Given the description of an element on the screen output the (x, y) to click on. 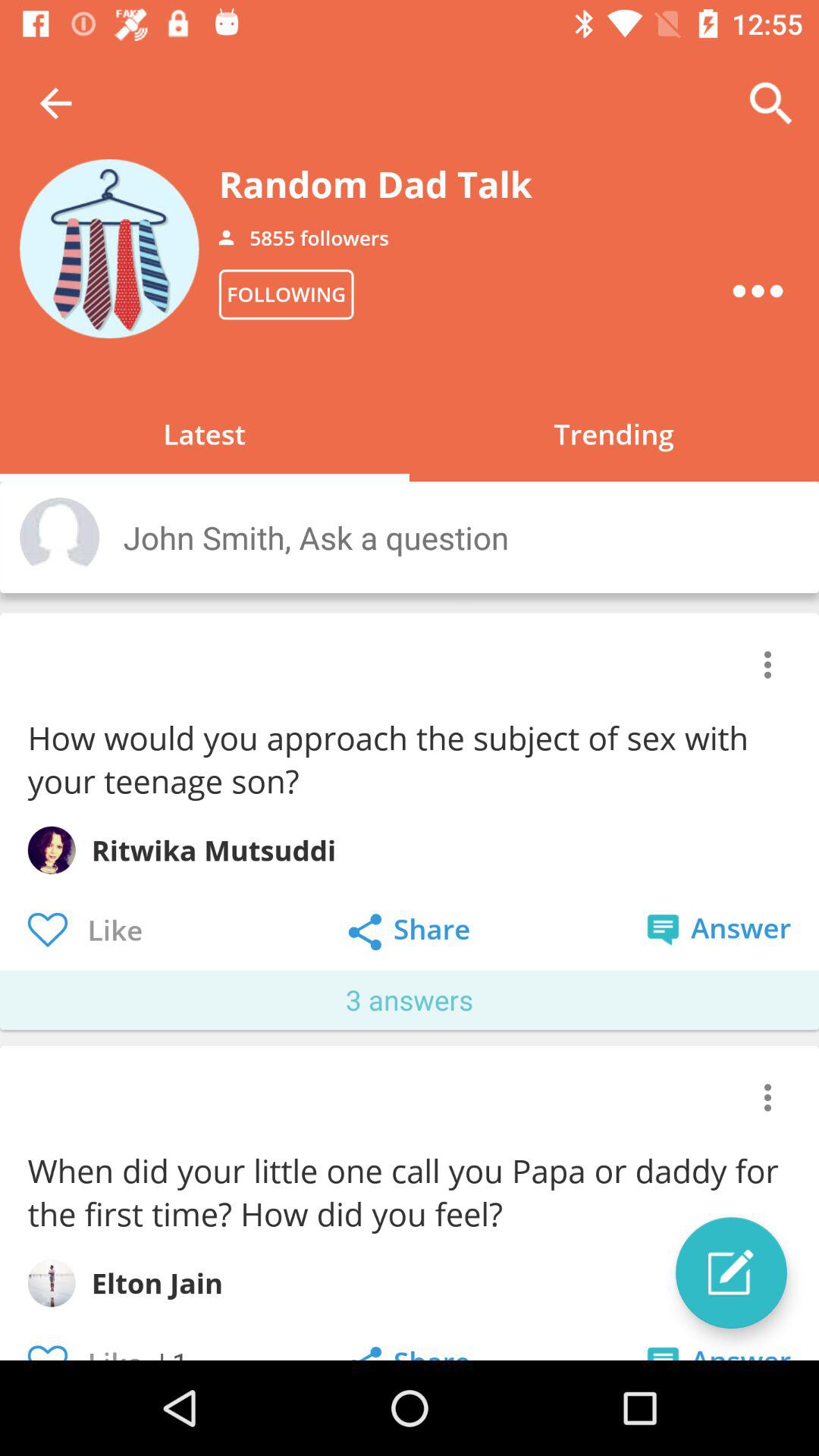
swipe to the when did your (407, 1192)
